Given the description of an element on the screen output the (x, y) to click on. 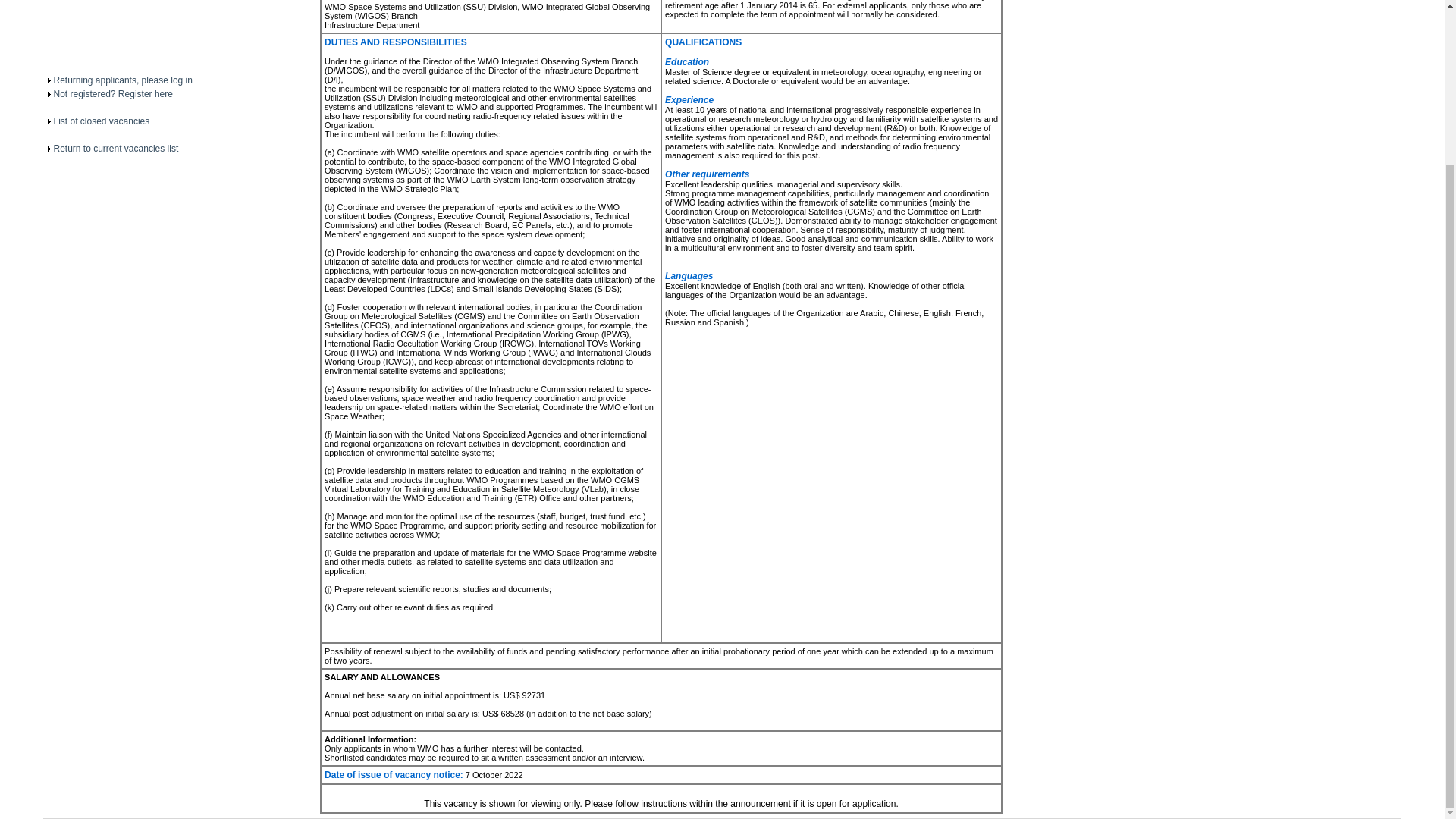
List of closed vacancies (100, 121)
Twitter Tweet Button (104, 28)
Returning applicants, please log in (122, 80)
Return to current vacancies list (114, 148)
Not registered? Register here (111, 93)
